Given the description of an element on the screen output the (x, y) to click on. 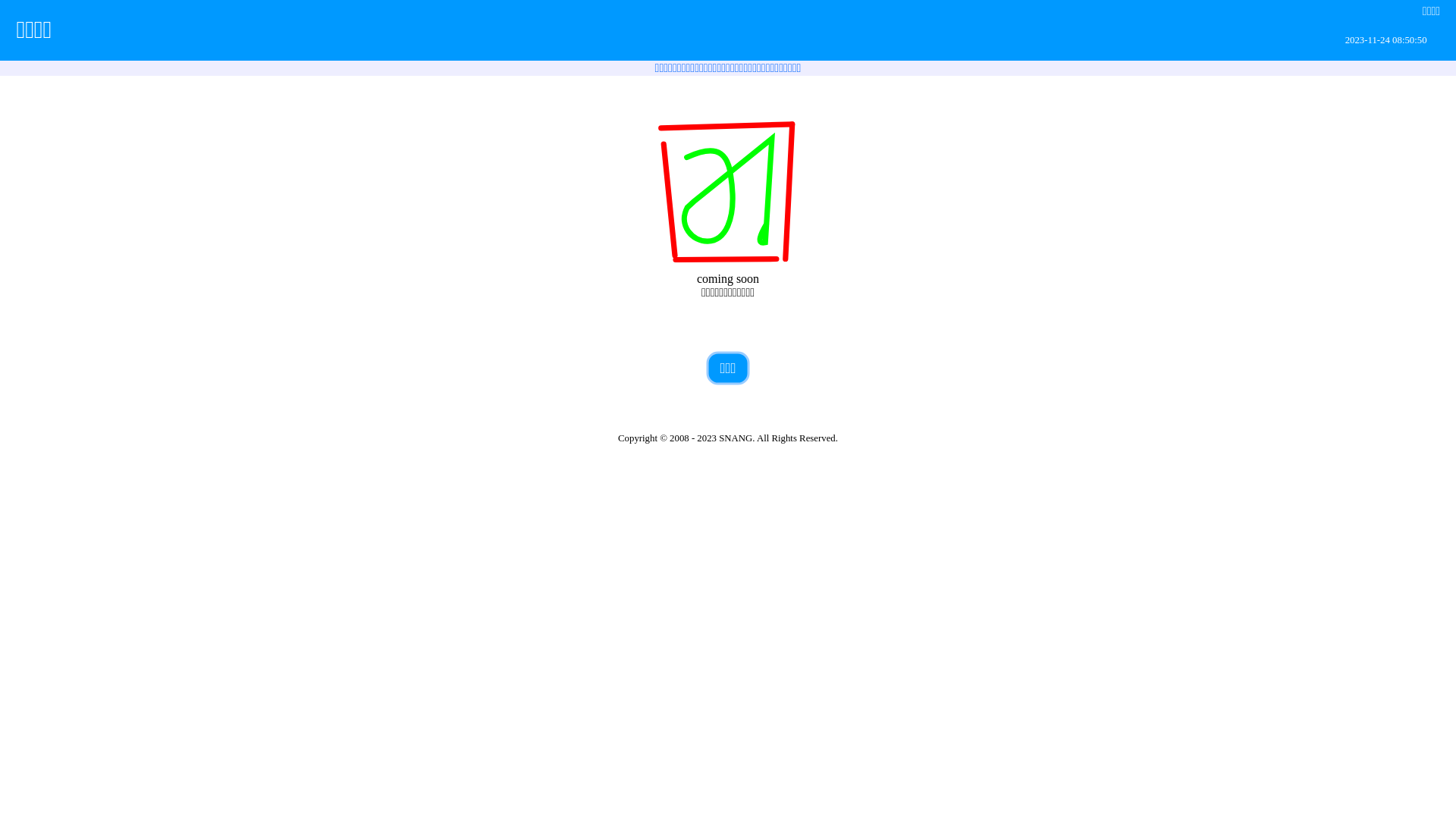
SNANG Element type: text (735, 438)
